Given the description of an element on the screen output the (x, y) to click on. 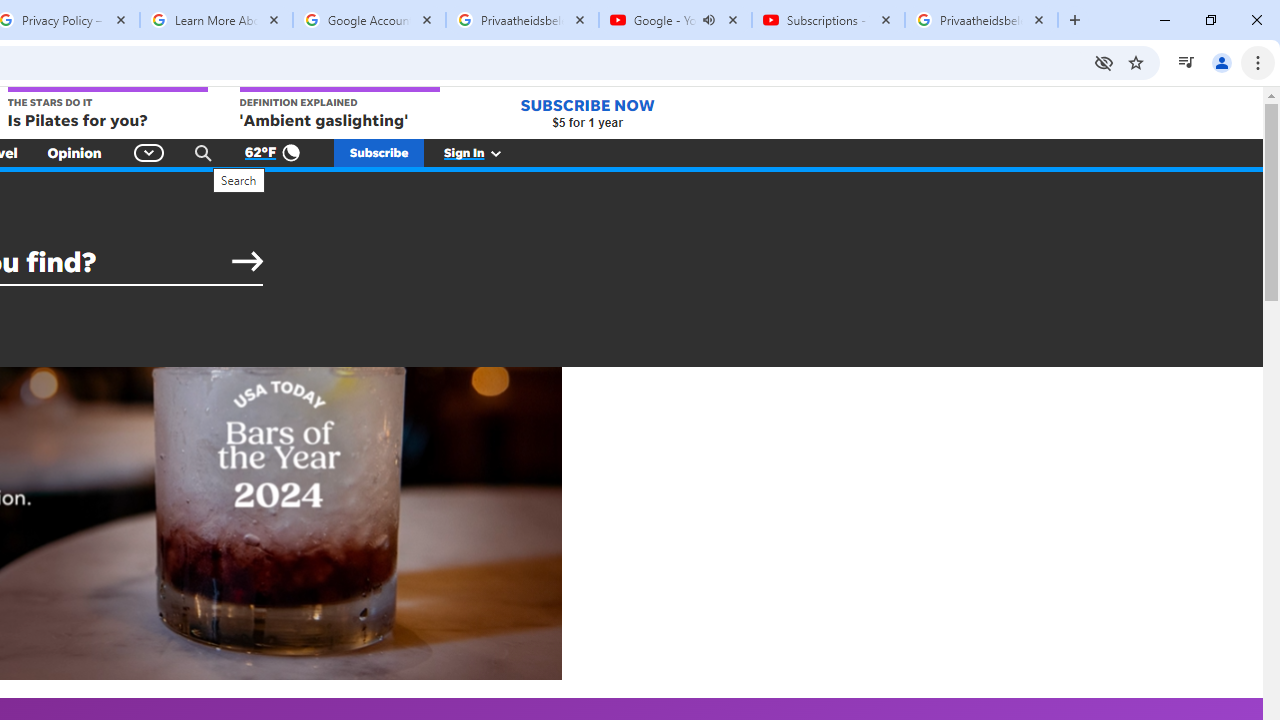
Submit (247, 261)
Subscriptions - YouTube (827, 20)
Sign In (483, 152)
SUBSCRIBE NOW $5 for 1 year (587, 112)
Opinion (74, 152)
